Given the description of an element on the screen output the (x, y) to click on. 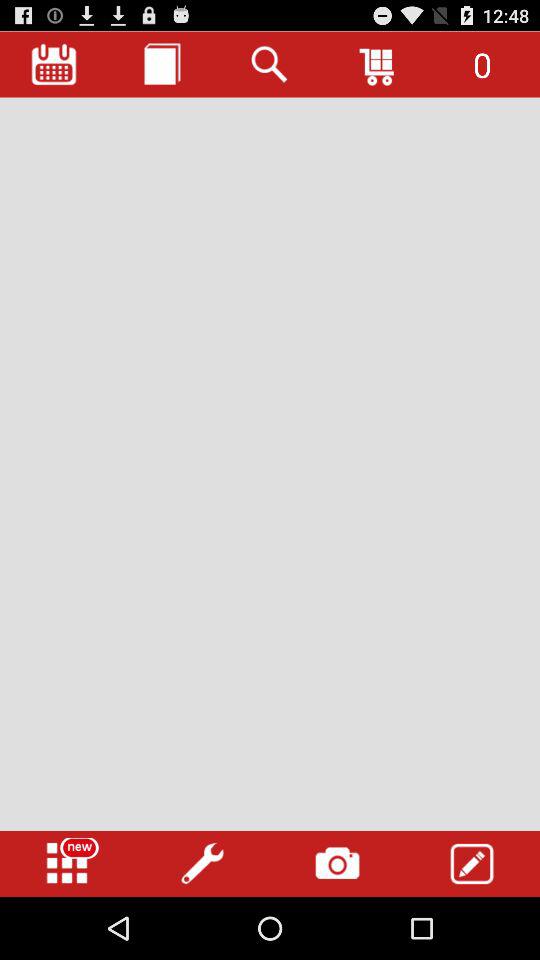
view calendar (53, 64)
